Given the description of an element on the screen output the (x, y) to click on. 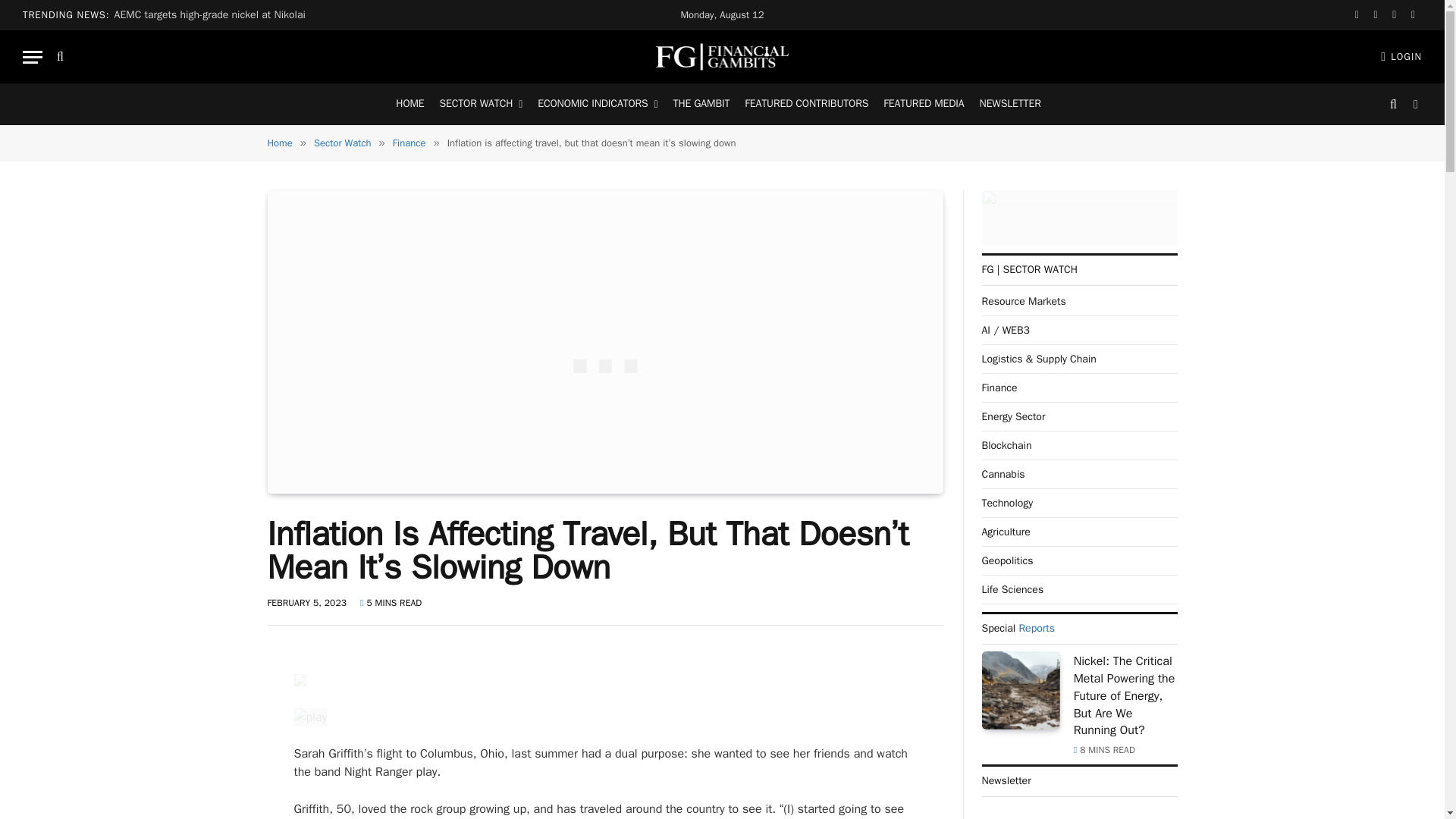
HOME (409, 104)
AEMC targets high-grade nickel at Nikolai (214, 15)
LOGIN (1401, 56)
Switch to Dark Design - easier on eyes. (1414, 104)
SECTOR WATCH (481, 104)
